Given the description of an element on the screen output the (x, y) to click on. 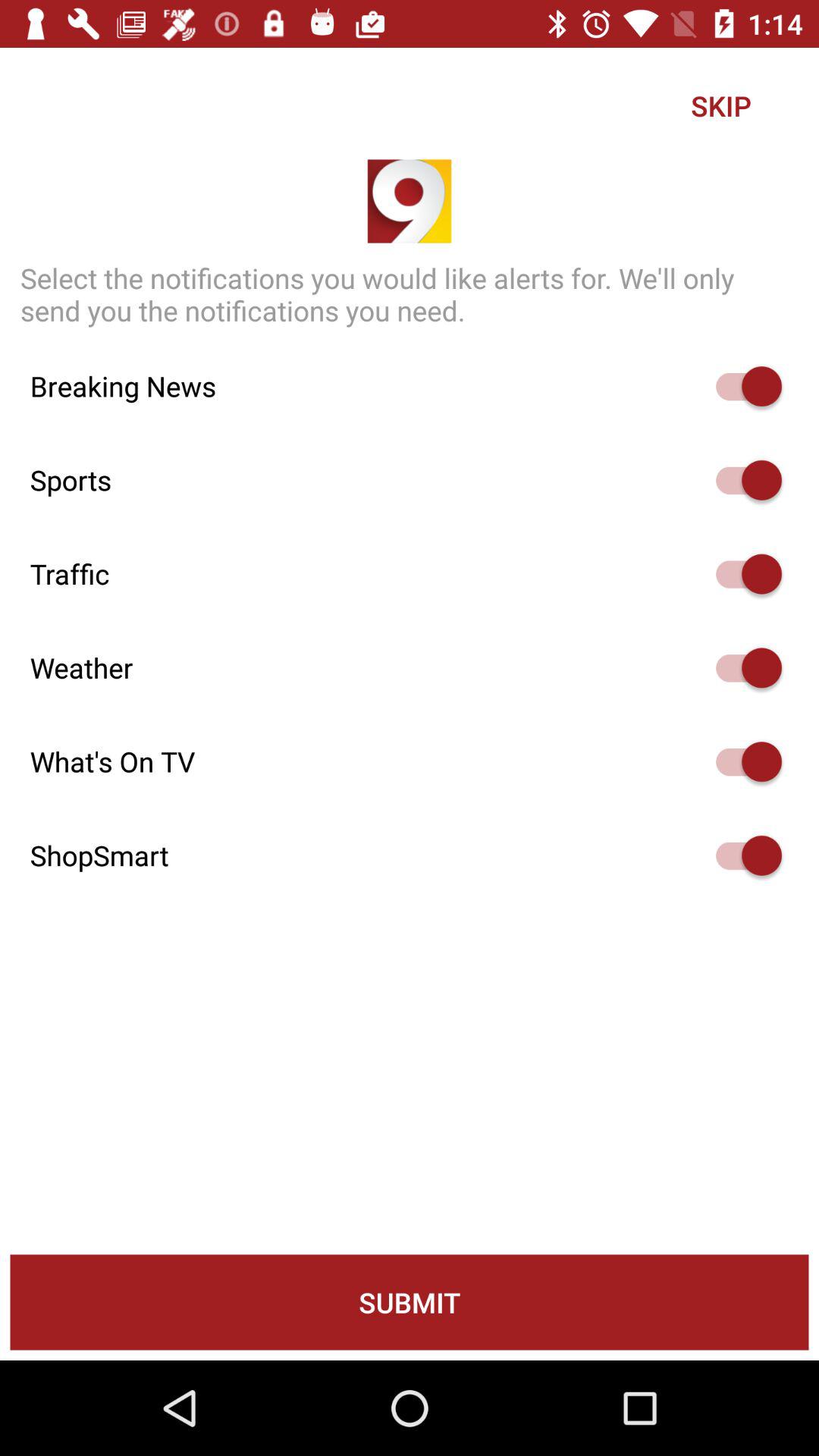
toggle option (741, 761)
